Given the description of an element on the screen output the (x, y) to click on. 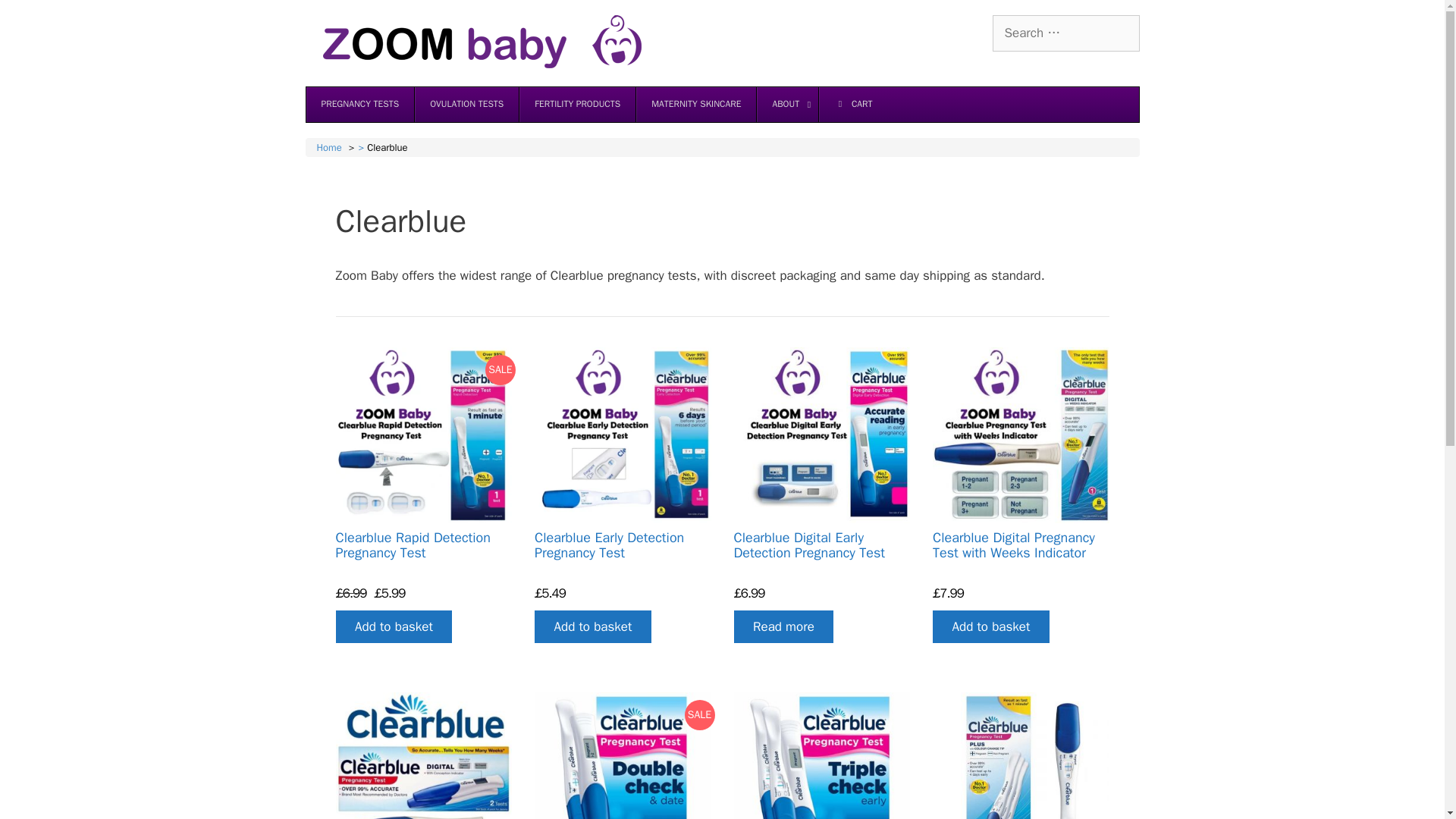
Add to basket (592, 626)
CART (852, 104)
Clearblue Rapid Detection Pregnancy Test (412, 545)
Clearblue Digital Pregnancy Test with Weeks Indicator (1013, 545)
Add to basket (392, 626)
Search for: (1064, 33)
Search (35, 18)
Clearblue Early Detection Pregnancy Test (609, 545)
Clearblue Digital Early Detection Pregnancy Test (809, 545)
PREGNANCY TESTS (359, 104)
ABOUT (786, 104)
Read more (783, 626)
FERTILITY PRODUCTS (576, 104)
Home (329, 146)
